Given the description of an element on the screen output the (x, y) to click on. 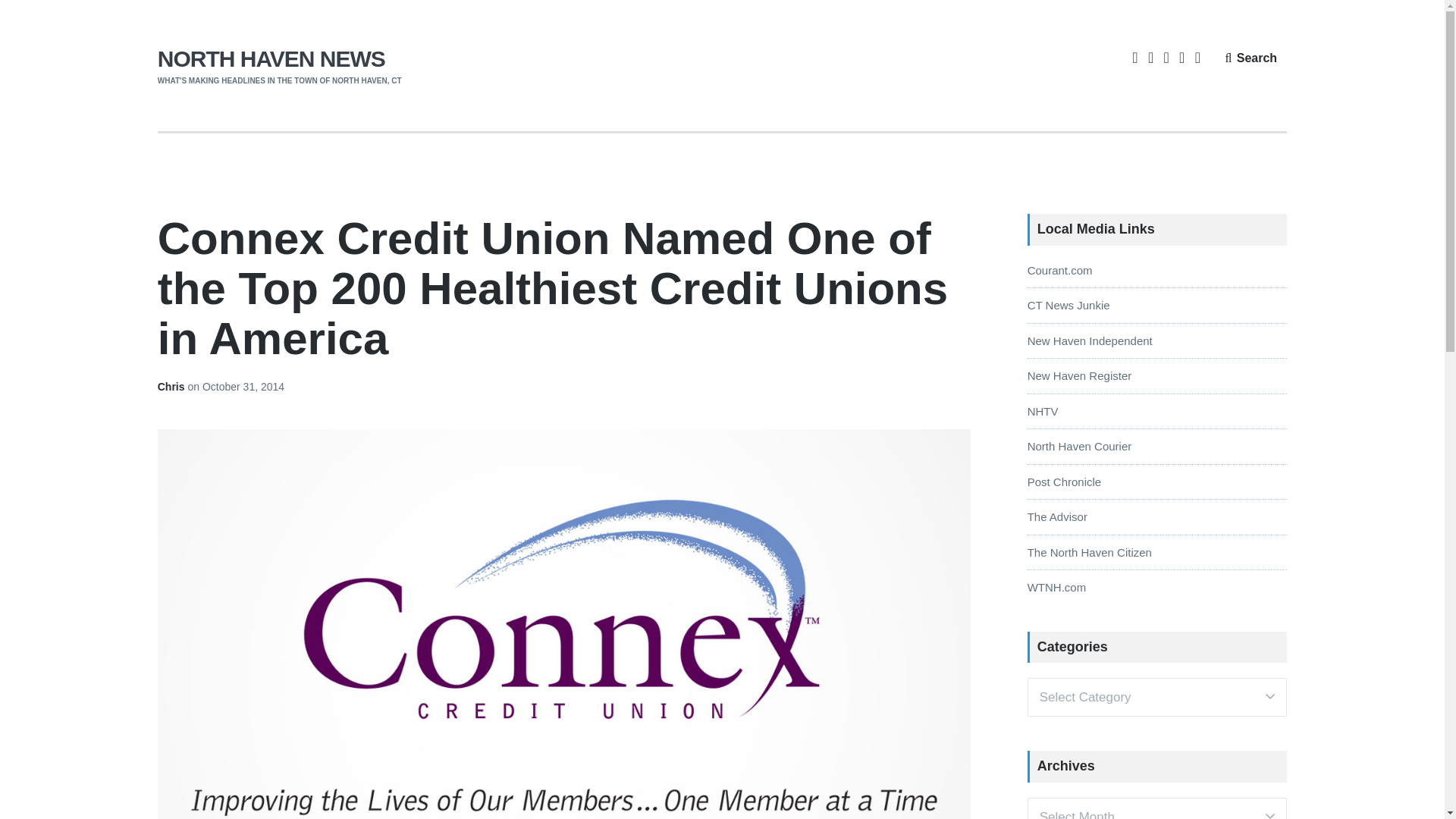
NORTH HAVEN NEWS (271, 58)
Post Chronicle (1064, 481)
The Advisor (1057, 516)
Search (1250, 57)
Chris (172, 386)
CT News Junkie (1068, 305)
Courant.com (1060, 269)
New Haven Independent (1090, 340)
